Given the description of an element on the screen output the (x, y) to click on. 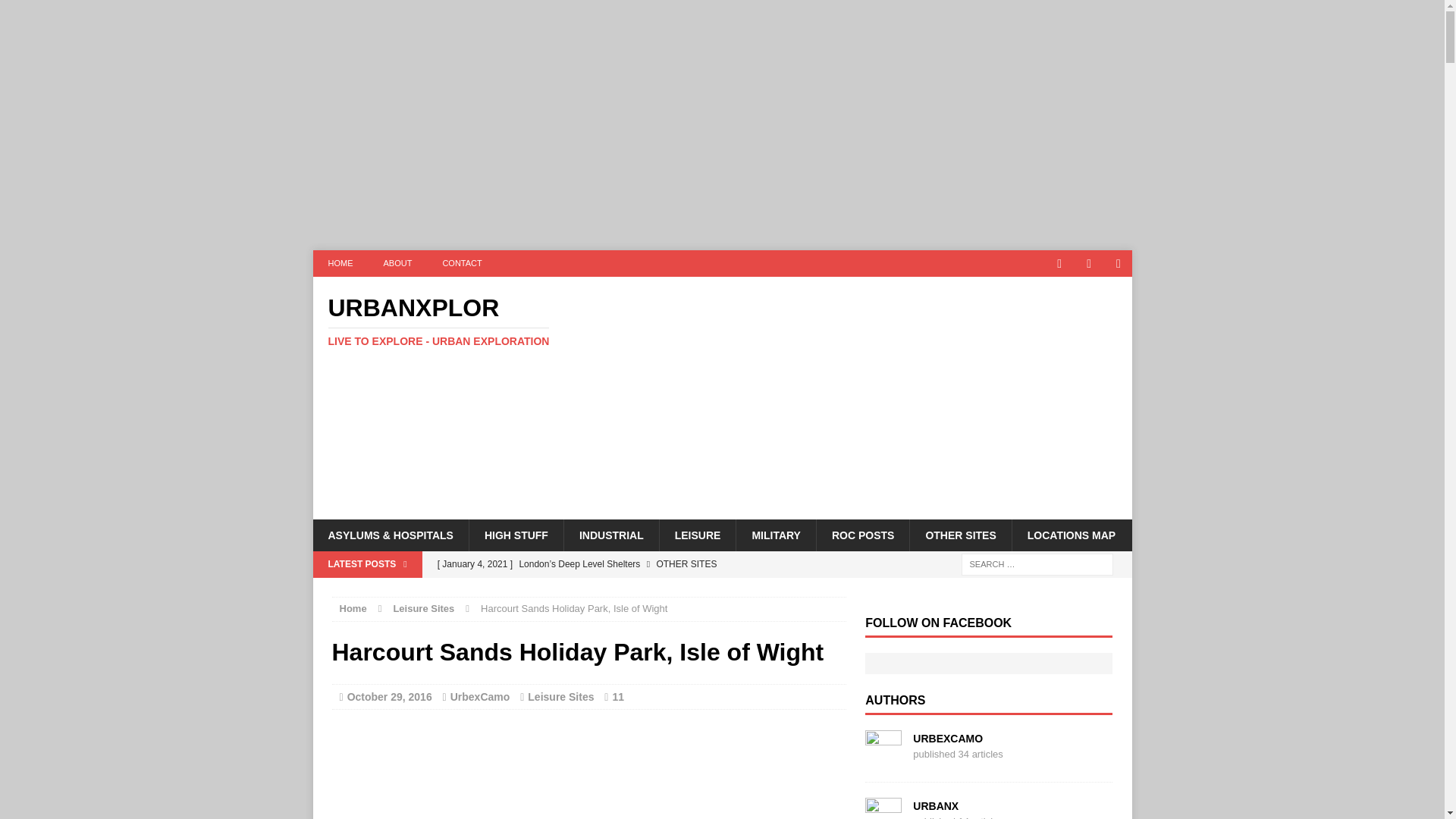
ABOUT (398, 263)
LOCATIONS MAP (1071, 535)
11 (617, 696)
11 (617, 696)
INDUSTRIAL (611, 535)
UrbexCamo (480, 696)
LEISURE (697, 535)
Advertisement (854, 397)
October 29, 2016 (389, 696)
